Given the description of an element on the screen output the (x, y) to click on. 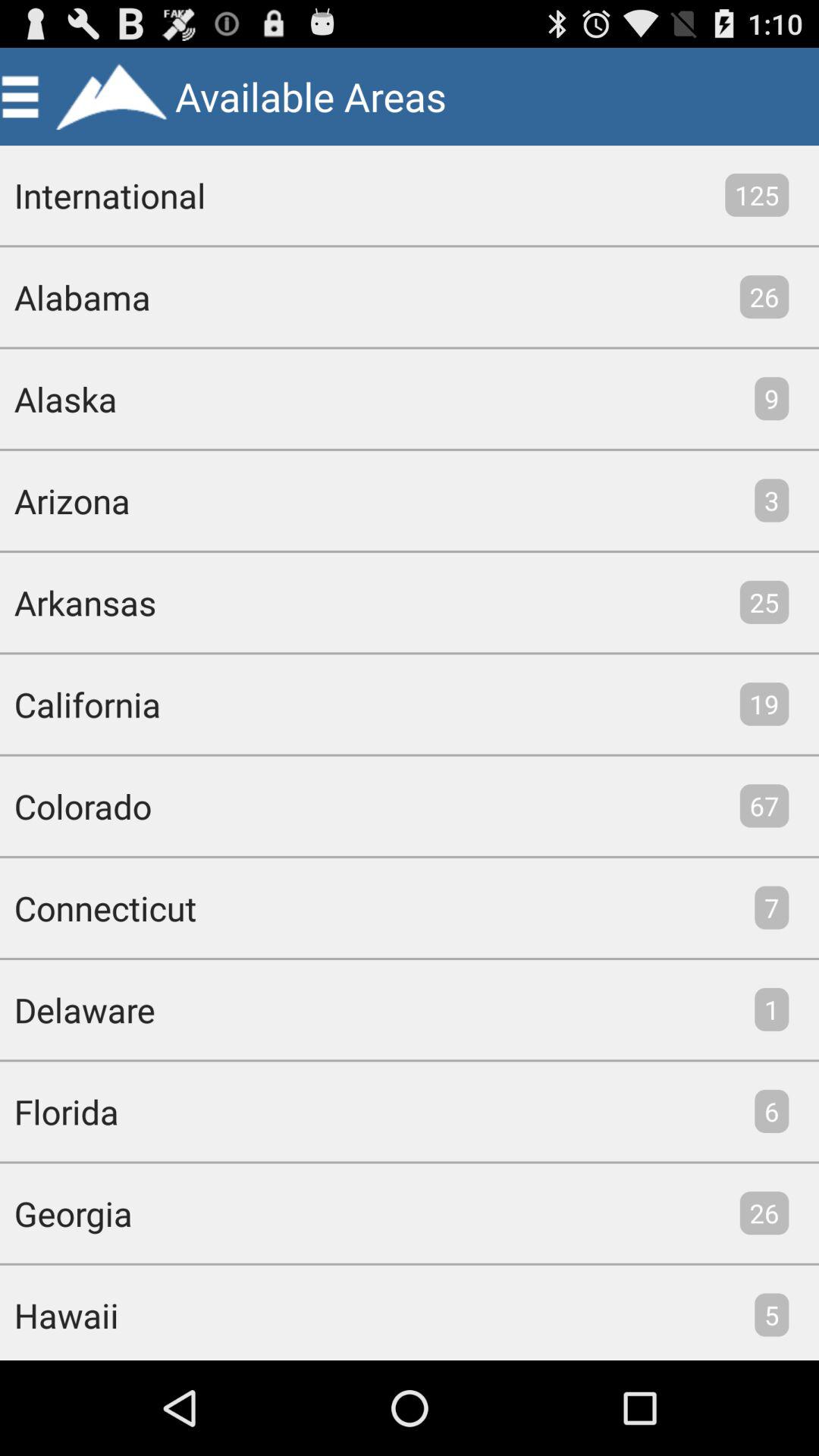
click the app to the right of the california app (763, 703)
